Given the description of an element on the screen output the (x, y) to click on. 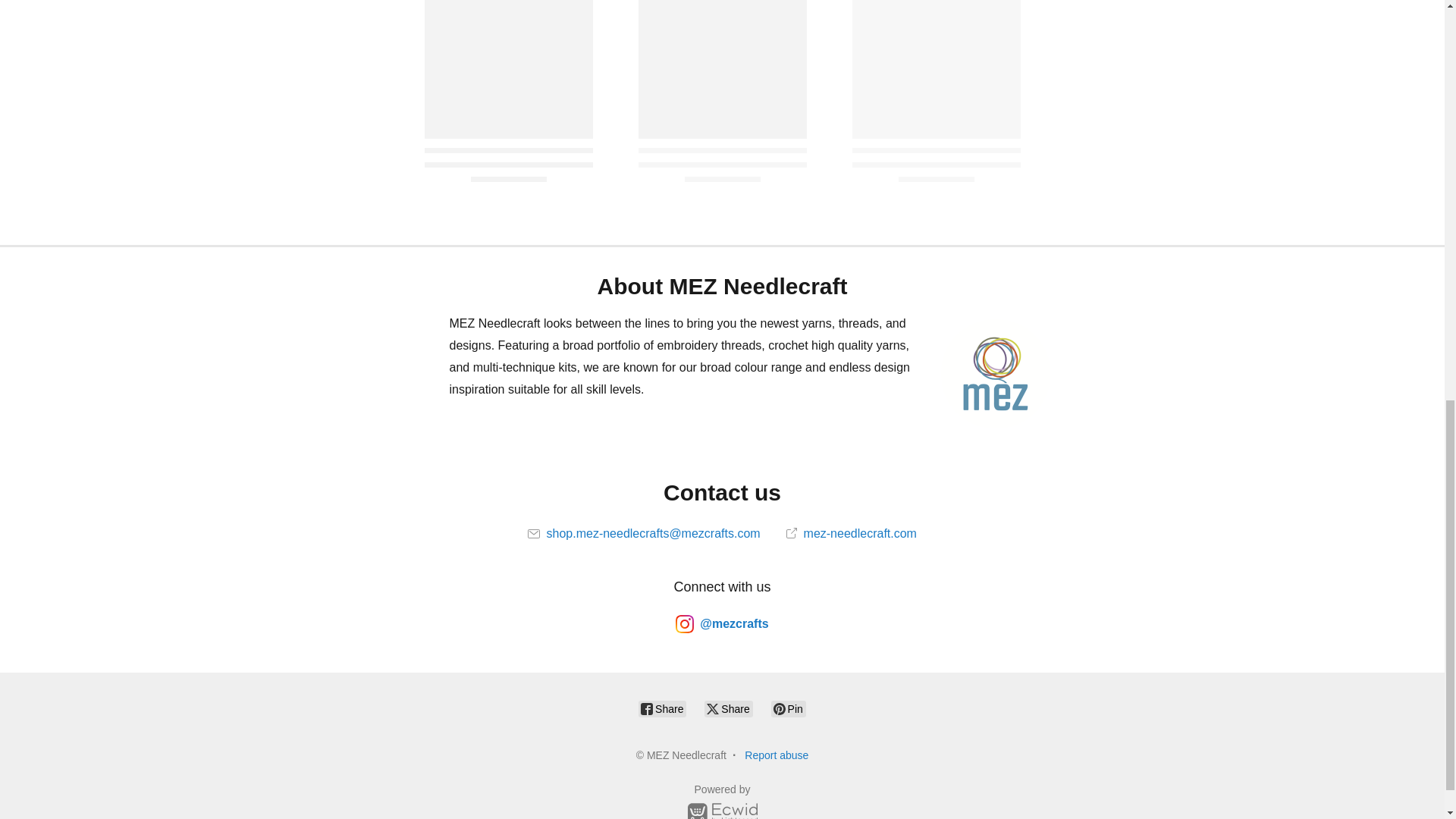
Share (728, 709)
mez-needlecraft.com (851, 533)
Powered by (722, 800)
Pin (788, 709)
Share (662, 709)
Report abuse (776, 755)
